Given the description of an element on the screen output the (x, y) to click on. 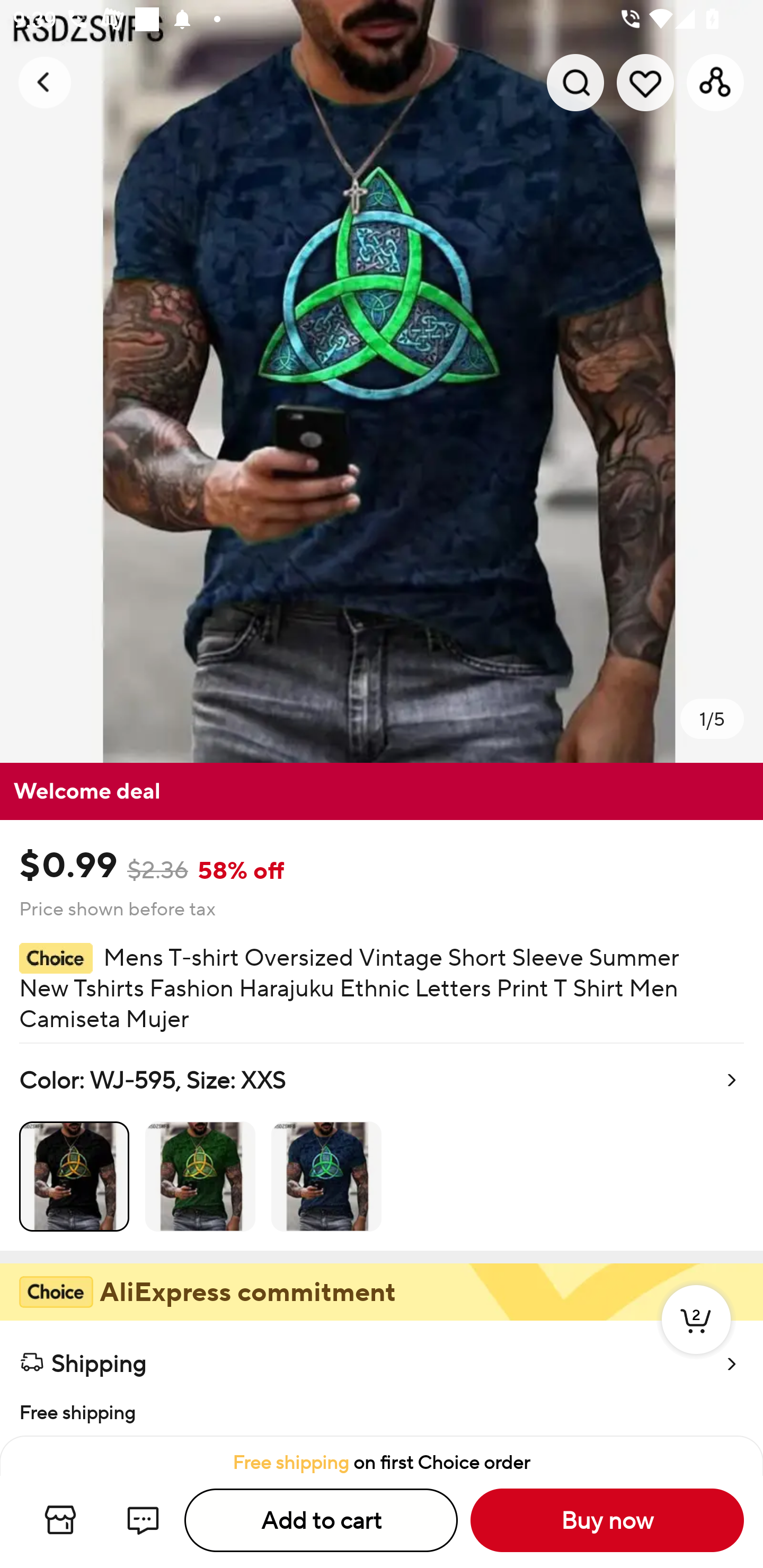
Navigate up (44, 82)
Color: WJ-595, Size: XXS  (381, 1147)
2 (695, 1338)
Free shipping  delivery by Mar 19 - 22  (381, 1410)
Add to cart (320, 1520)
Buy now (606, 1520)
